Given the description of an element on the screen output the (x, y) to click on. 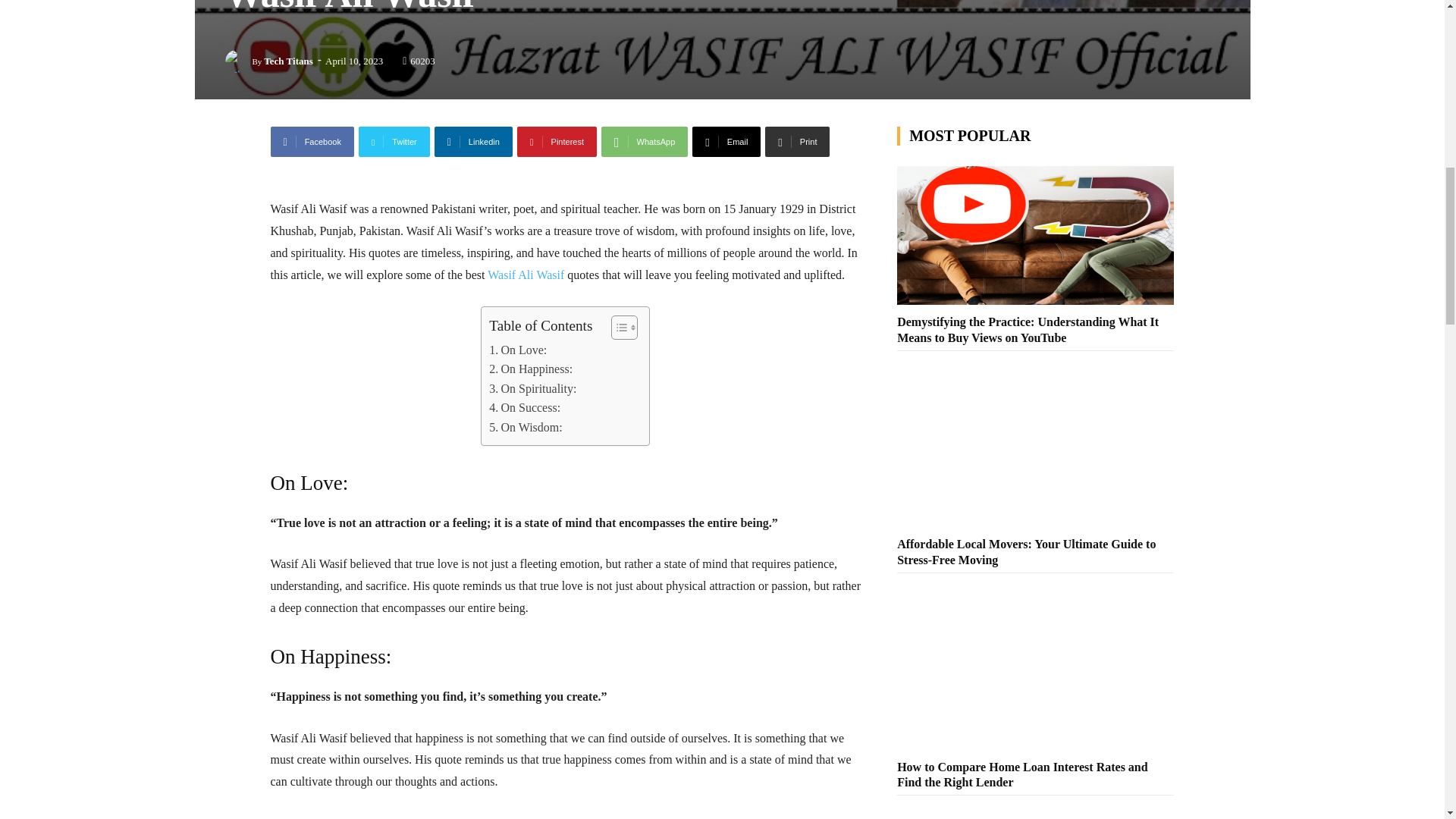
Tech Titans (288, 60)
Twitter (393, 141)
maxresdefault (721, 49)
Tech Titans (237, 60)
Print (797, 141)
Facebook (311, 141)
Linkedin (472, 141)
WhatsApp (644, 141)
Pinterest (556, 141)
Email (726, 141)
